Given the description of an element on the screen output the (x, y) to click on. 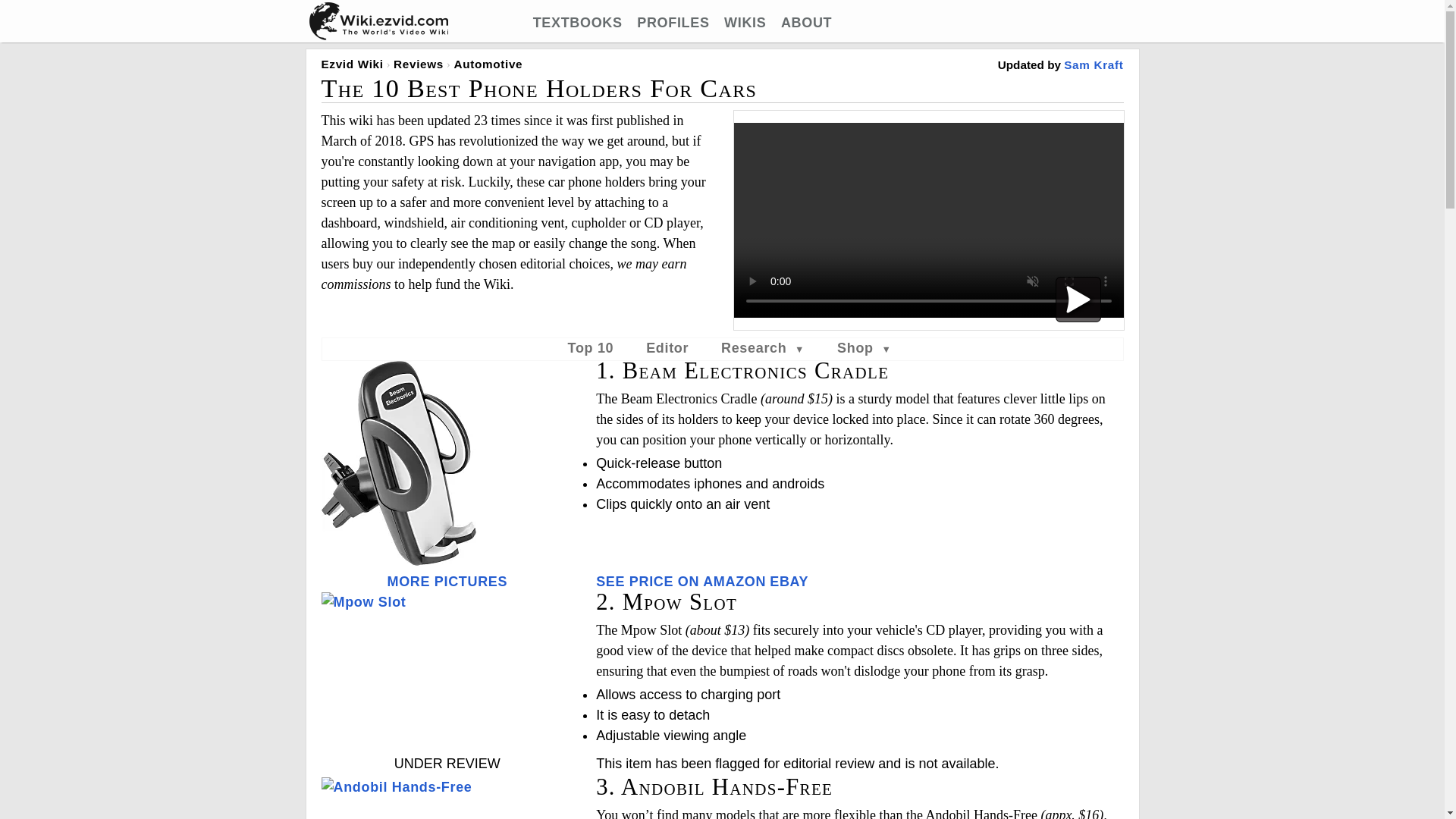
Editor (667, 347)
Reviews (418, 63)
Sam Kraft (1093, 64)
EBAY (789, 581)
TEXTBOOKS (577, 22)
Top 10 (590, 347)
SEE PRICE ON AMAZON (680, 581)
PROFILES (673, 22)
Automotive (487, 63)
MORE PICTURES (446, 581)
